Given the description of an element on the screen output the (x, y) to click on. 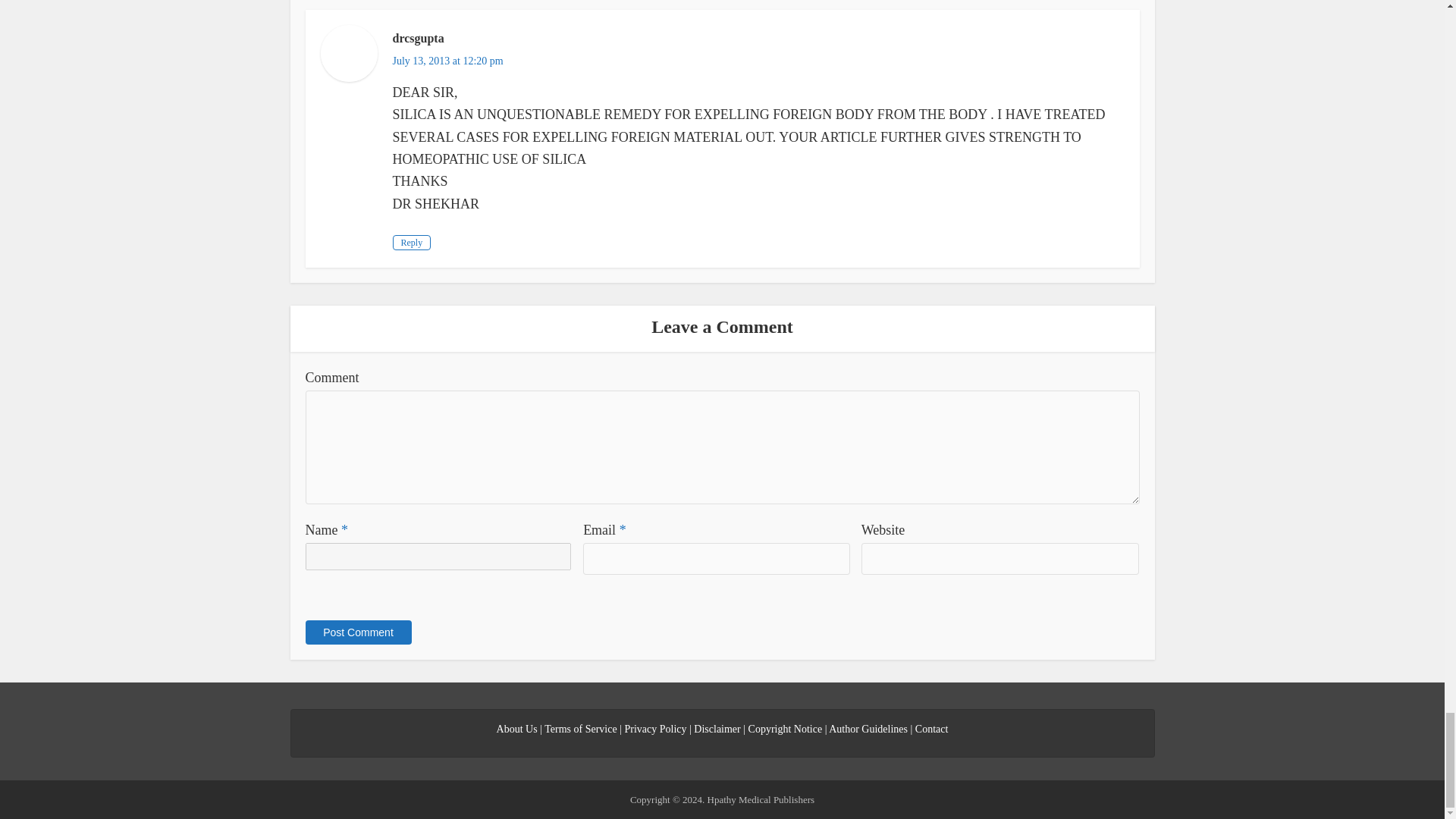
Post Comment (357, 631)
